Given the description of an element on the screen output the (x, y) to click on. 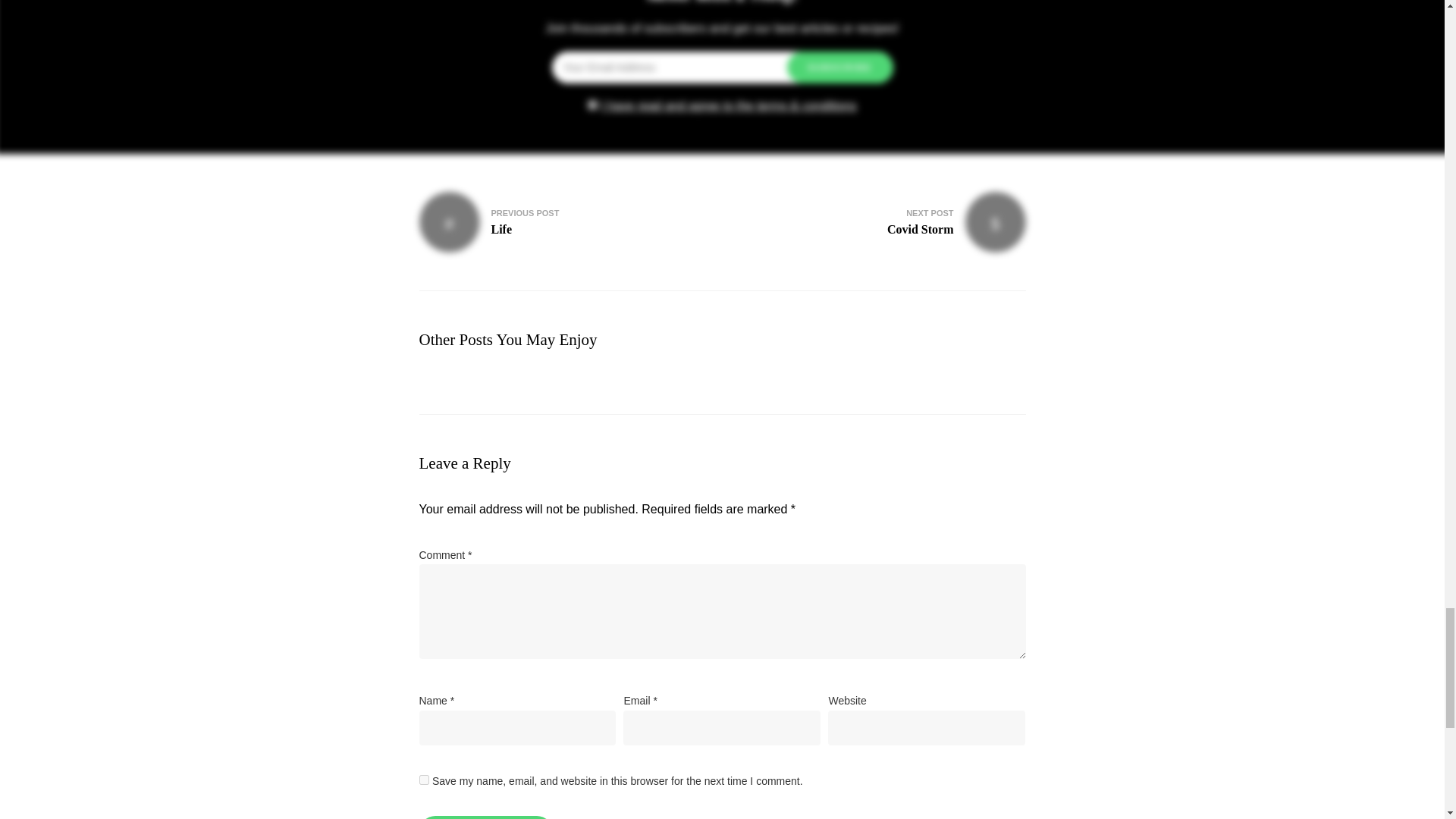
Subscribe (840, 67)
Post Comment (485, 817)
yes (880, 221)
Subscribe (562, 221)
1 (423, 779)
